Given the description of an element on the screen output the (x, y) to click on. 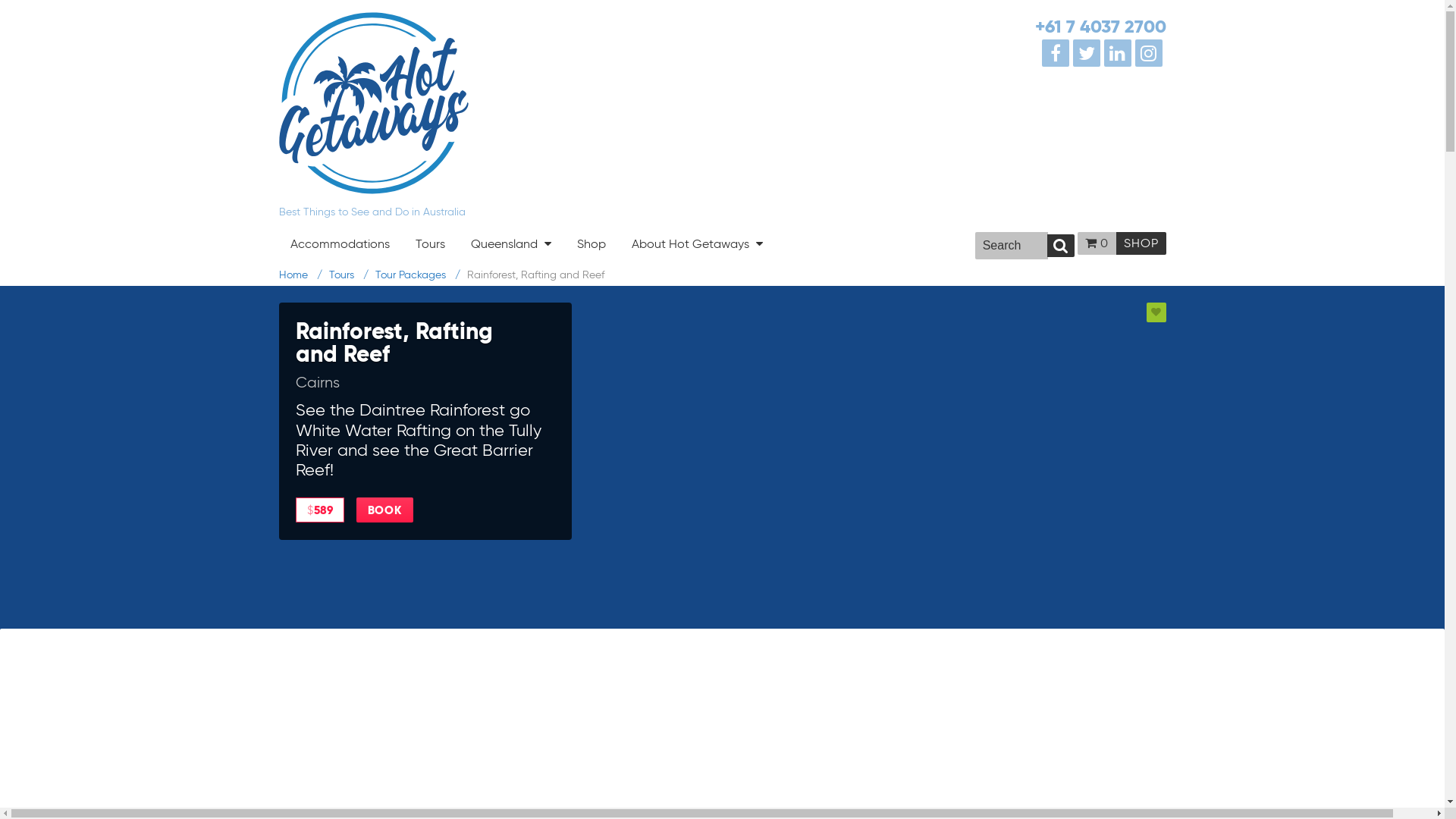
0 followers on LinkedIn Element type: hover (1119, 53)
0 followers on Instagram Element type: hover (1150, 53)
Tours Element type: text (429, 244)
Tour Packages Element type: text (409, 274)
Tours Element type: text (341, 274)
Queensland Element type: text (510, 243)
SHOP Element type: text (1140, 243)
0 followers on Twitter Element type: hover (1088, 53)
Search Element type: text (1060, 245)
BOOK Element type: text (384, 509)
+61 7 4037 2700 Element type: text (1099, 26)
0 Element type: text (1093, 243)
Shop Element type: text (591, 244)
0 people like us on Facebook Element type: hover (1057, 53)
Accommodations Element type: text (340, 244)
Home Element type: text (293, 274)
About Hot Getaways Element type: text (697, 243)
